Given the description of an element on the screen output the (x, y) to click on. 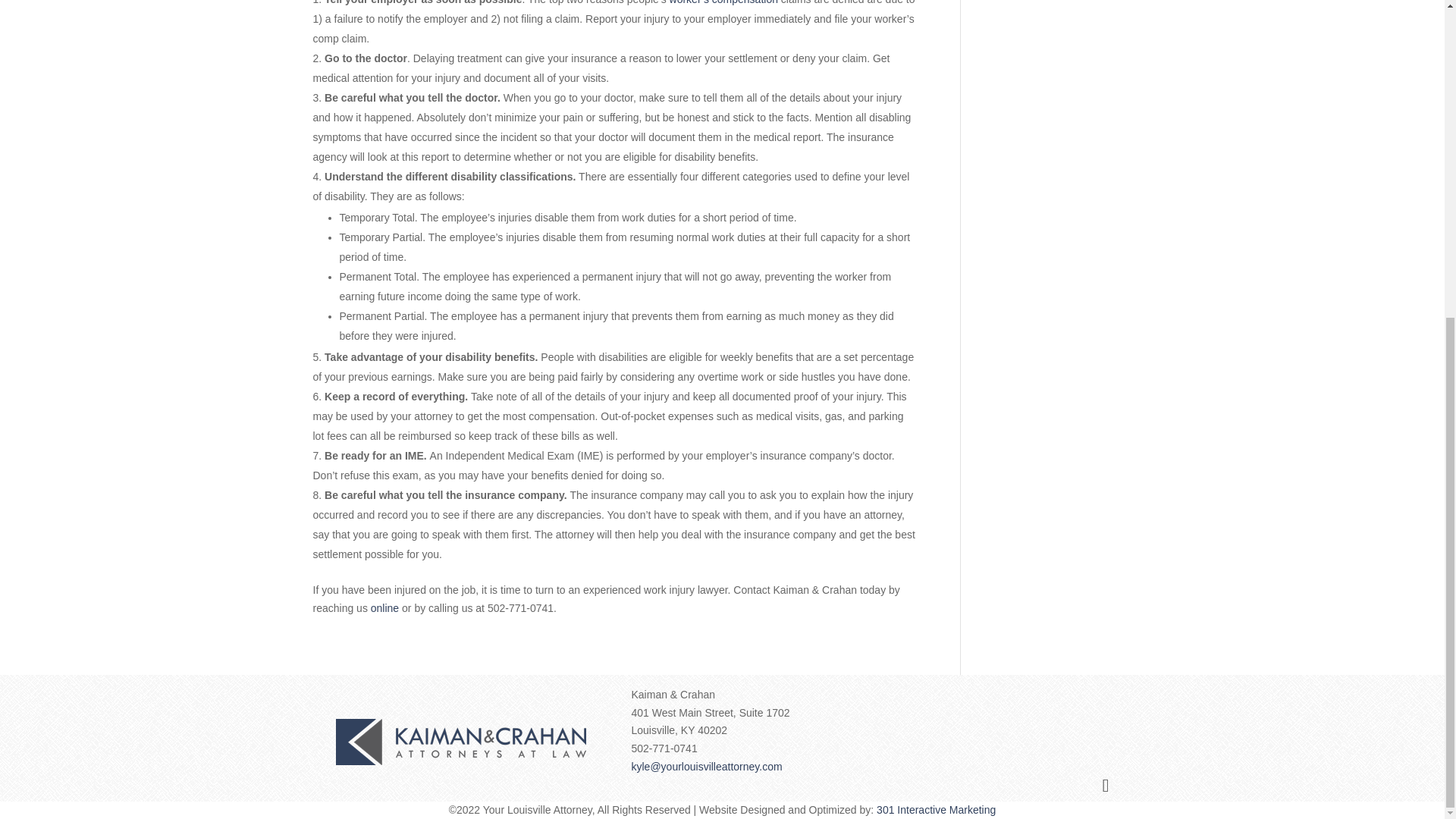
Louisville Web Design (935, 809)
